Given the description of an element on the screen output the (x, y) to click on. 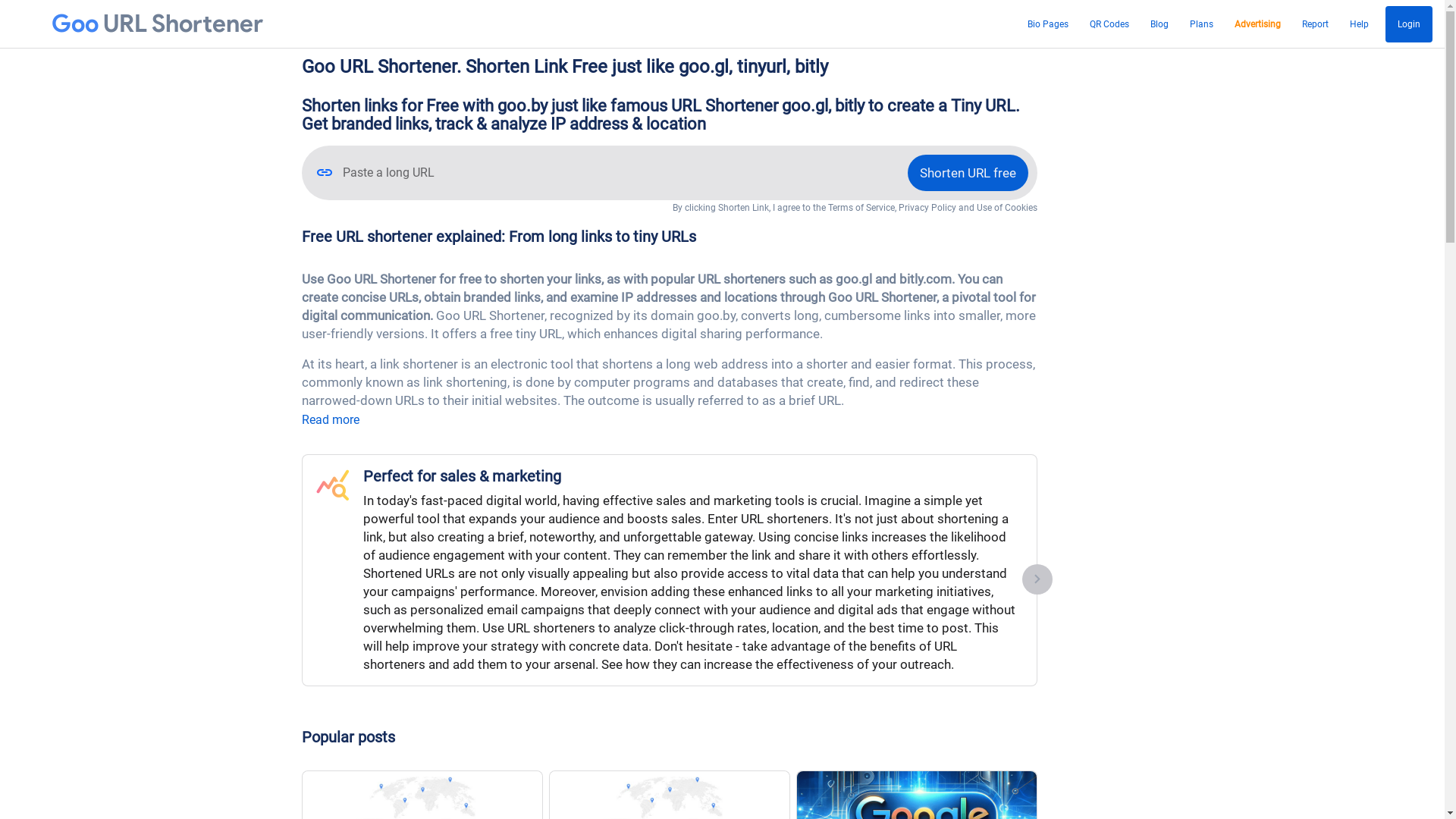
Read more Element type: text (330, 419)
Blog Element type: text (1159, 24)
Advertising Element type: text (1257, 24)
Report Element type: text (1315, 24)
Bio Pages Element type: text (1047, 24)
Help Element type: text (1359, 24)
Shorten URL free Element type: text (966, 172)
Login Element type: text (1408, 24)
Plans Element type: text (1201, 24)
QR Codes Element type: text (1109, 24)
